Given the description of an element on the screen output the (x, y) to click on. 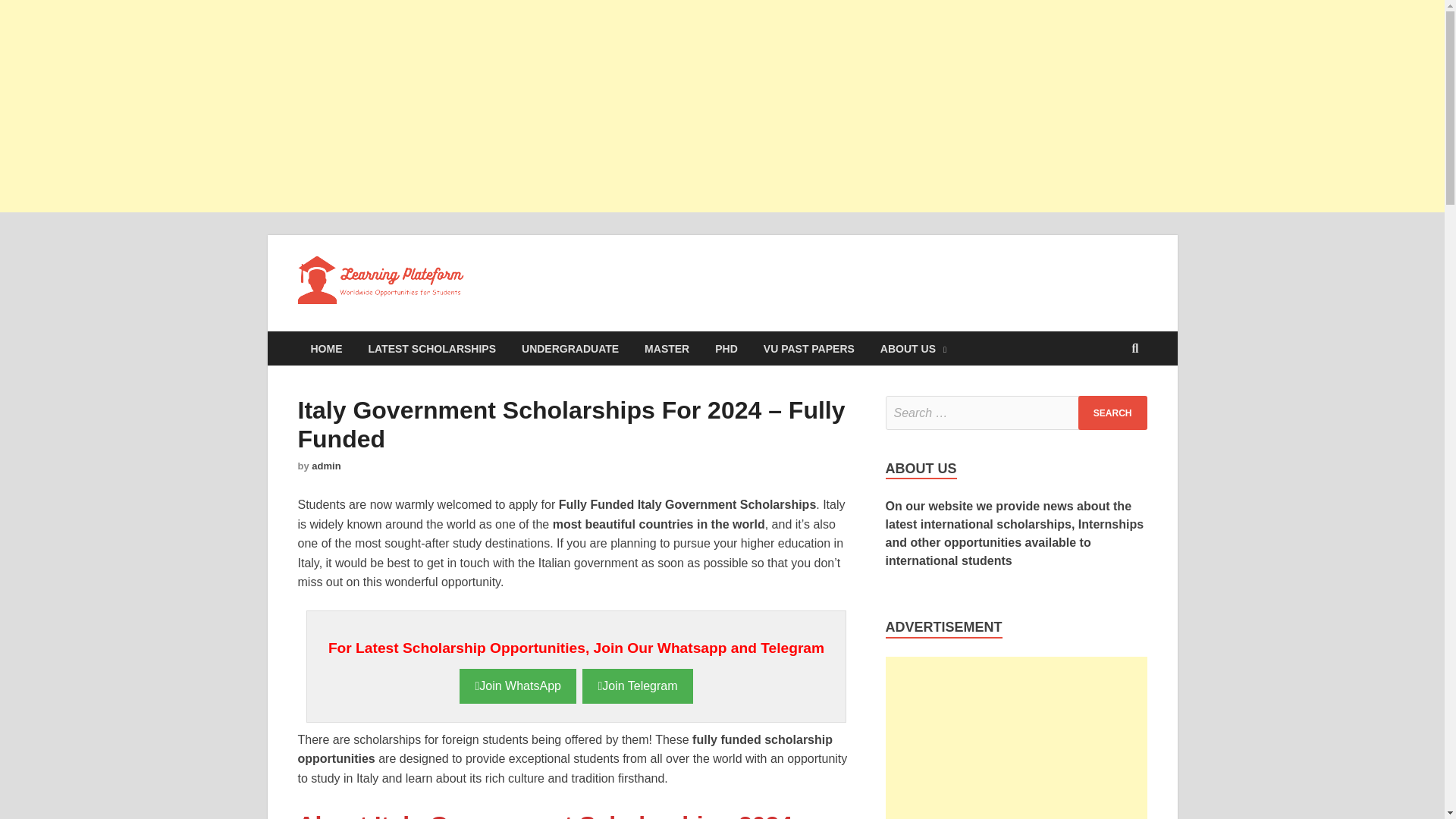
Information Hub (581, 286)
VU PAST PAPERS (809, 348)
LATEST SCHOLARSHIPS (431, 348)
UNDERGRADUATE (569, 348)
admin (325, 465)
PHD (726, 348)
MASTER (666, 348)
Search (1112, 412)
ABOUT US (913, 348)
Search (1112, 412)
